Given the description of an element on the screen output the (x, y) to click on. 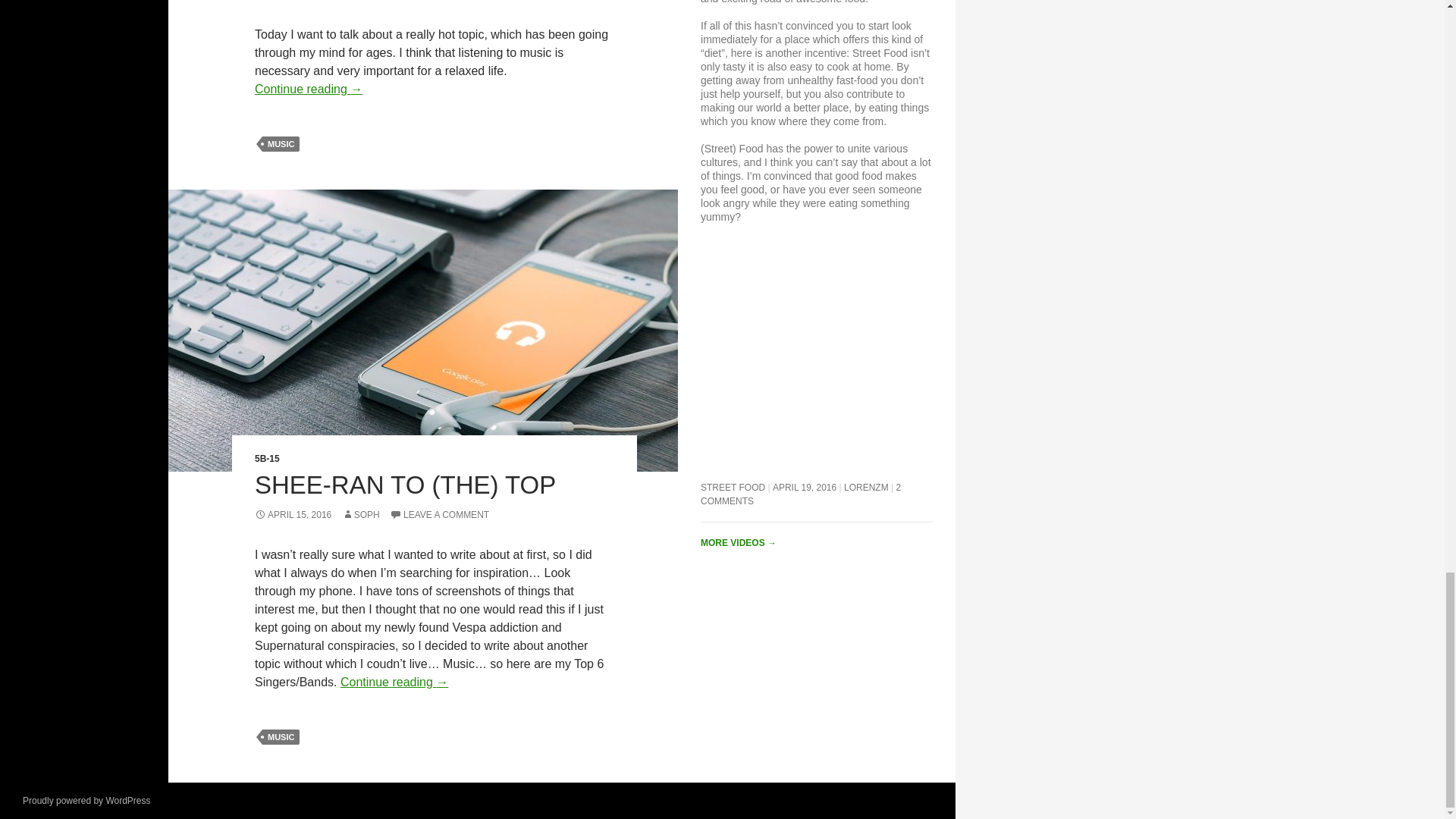
APRIL 15, 2016 (292, 514)
SOPH (361, 514)
MUSIC (280, 143)
5B-15 (266, 458)
LEAVE A COMMENT (439, 514)
